Given the description of an element on the screen output the (x, y) to click on. 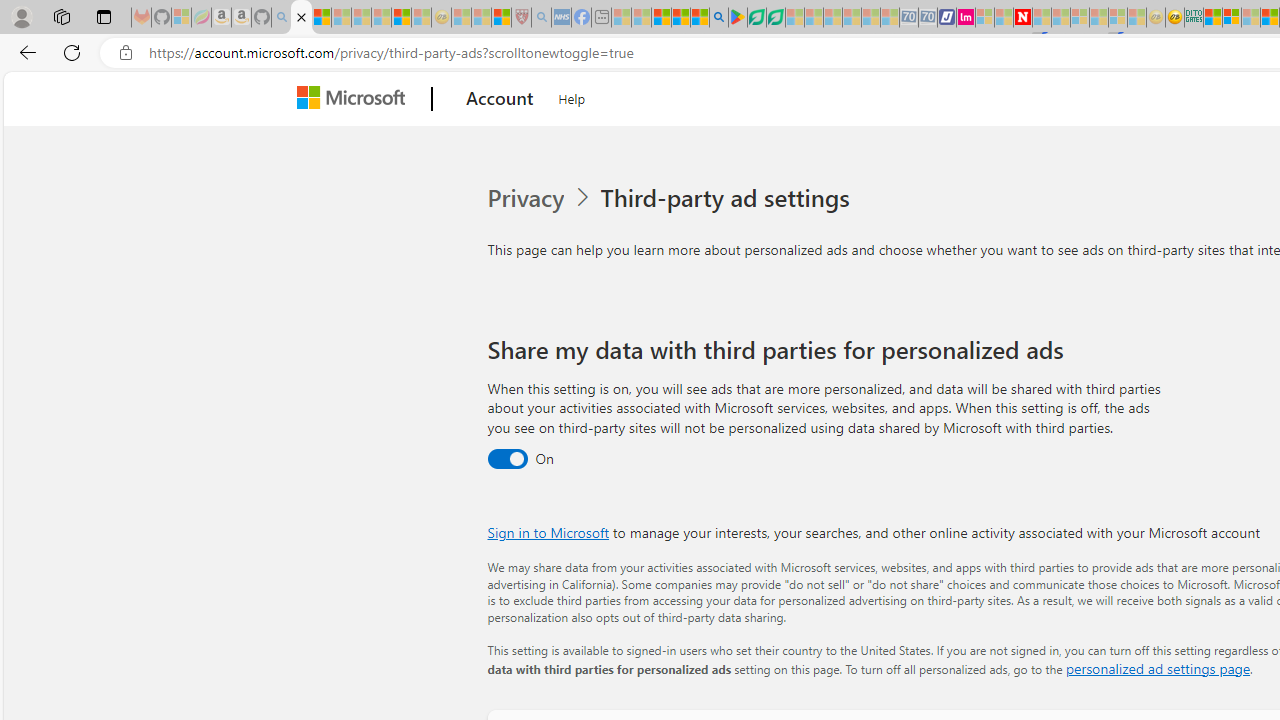
New Report Confirms 2023 Was Record Hot | Watch - Sleeping (381, 17)
The Weather Channel - MSN - Sleeping (340, 17)
Local - MSN (500, 17)
